Given the description of an element on the screen output the (x, y) to click on. 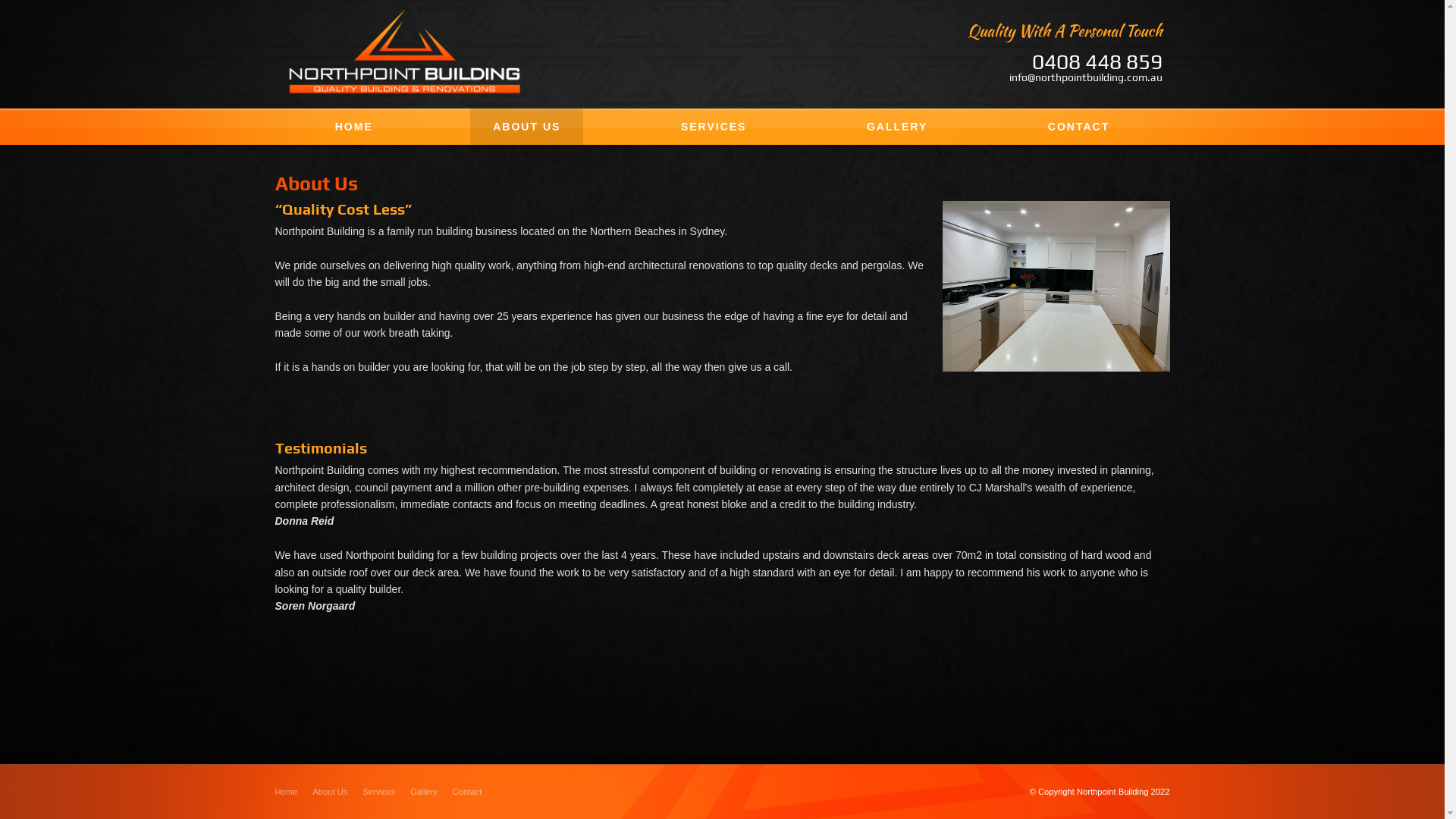
Home Element type: text (285, 791)
Contact Element type: text (467, 791)
info@northpointbuilding.com.au Element type: text (1084, 77)
CONTACT Element type: text (1078, 126)
HOME Element type: text (353, 126)
GALLERY Element type: text (897, 126)
5.JPG - large Element type: hover (1055, 285)
About Us Element type: text (329, 791)
Gallery Element type: text (423, 791)
SERVICES Element type: text (713, 126)
Services Element type: text (378, 791)
ABOUT US Element type: text (526, 126)
